Given the description of an element on the screen output the (x, y) to click on. 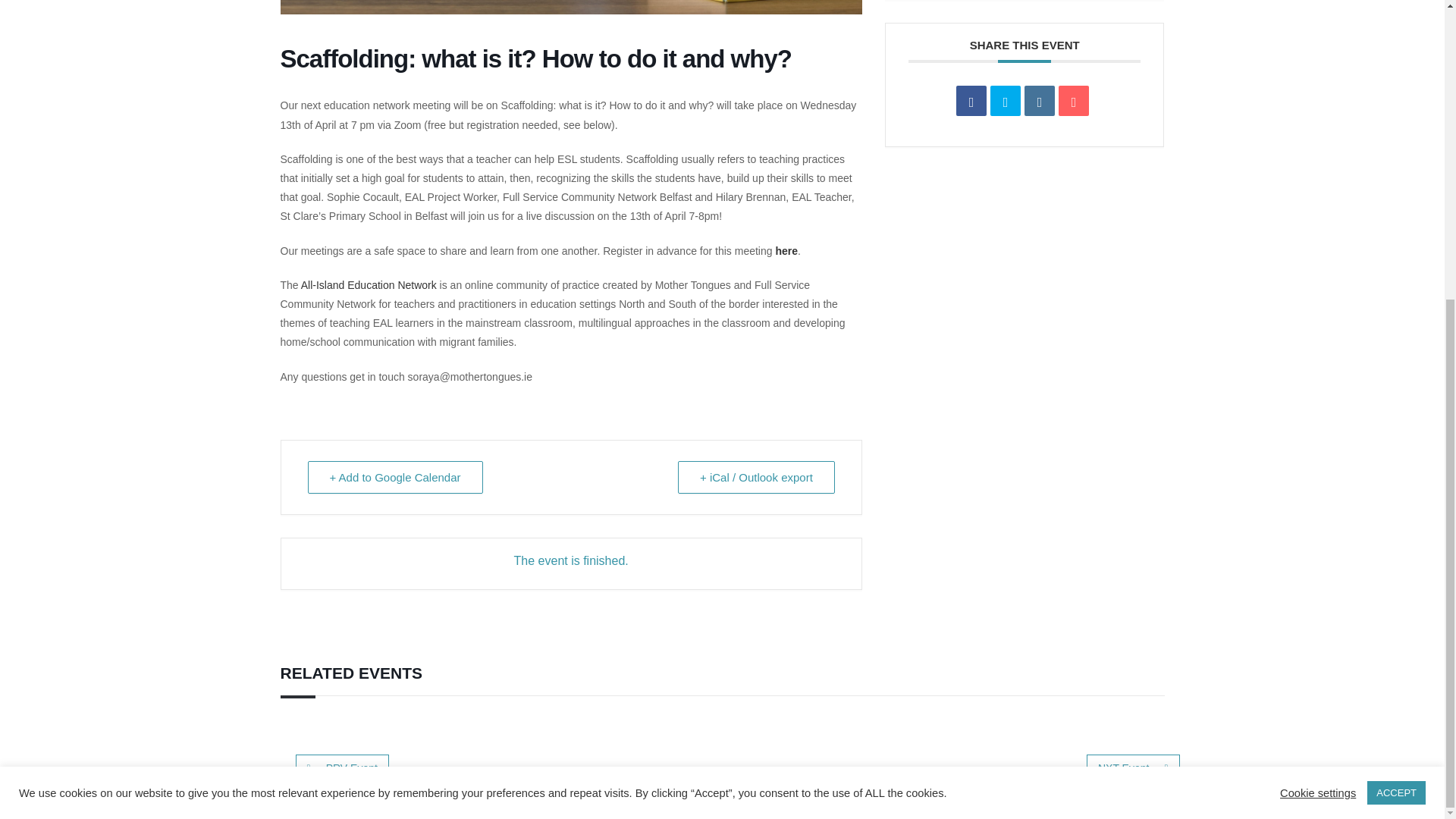
Share on Facebook (971, 100)
Tweet (1005, 100)
Linkedin (1039, 100)
Email (1073, 100)
